Given the description of an element on the screen output the (x, y) to click on. 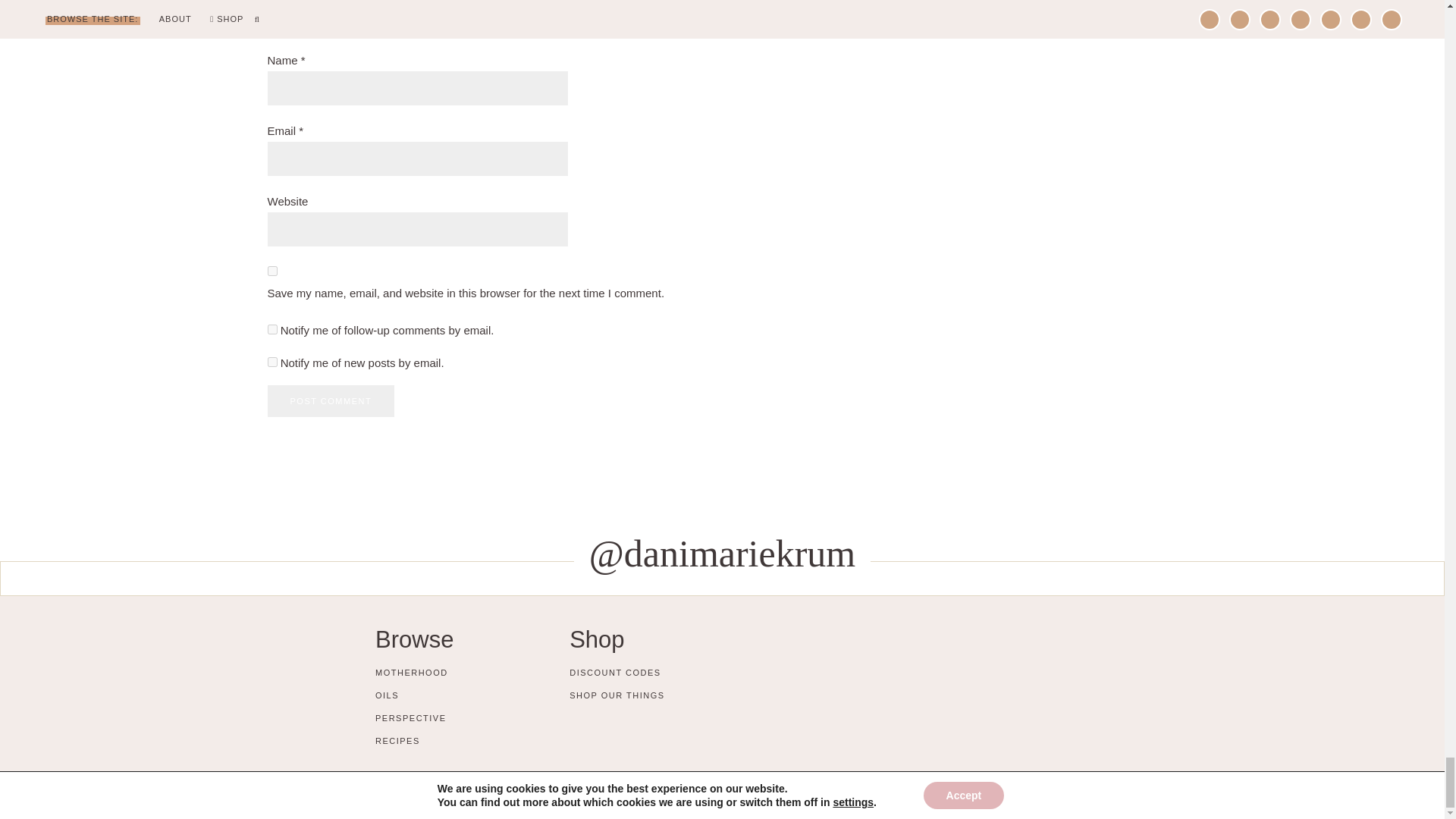
subscribe (271, 361)
yes (271, 271)
Post Comment (330, 400)
subscribe (271, 329)
